Given the description of an element on the screen output the (x, y) to click on. 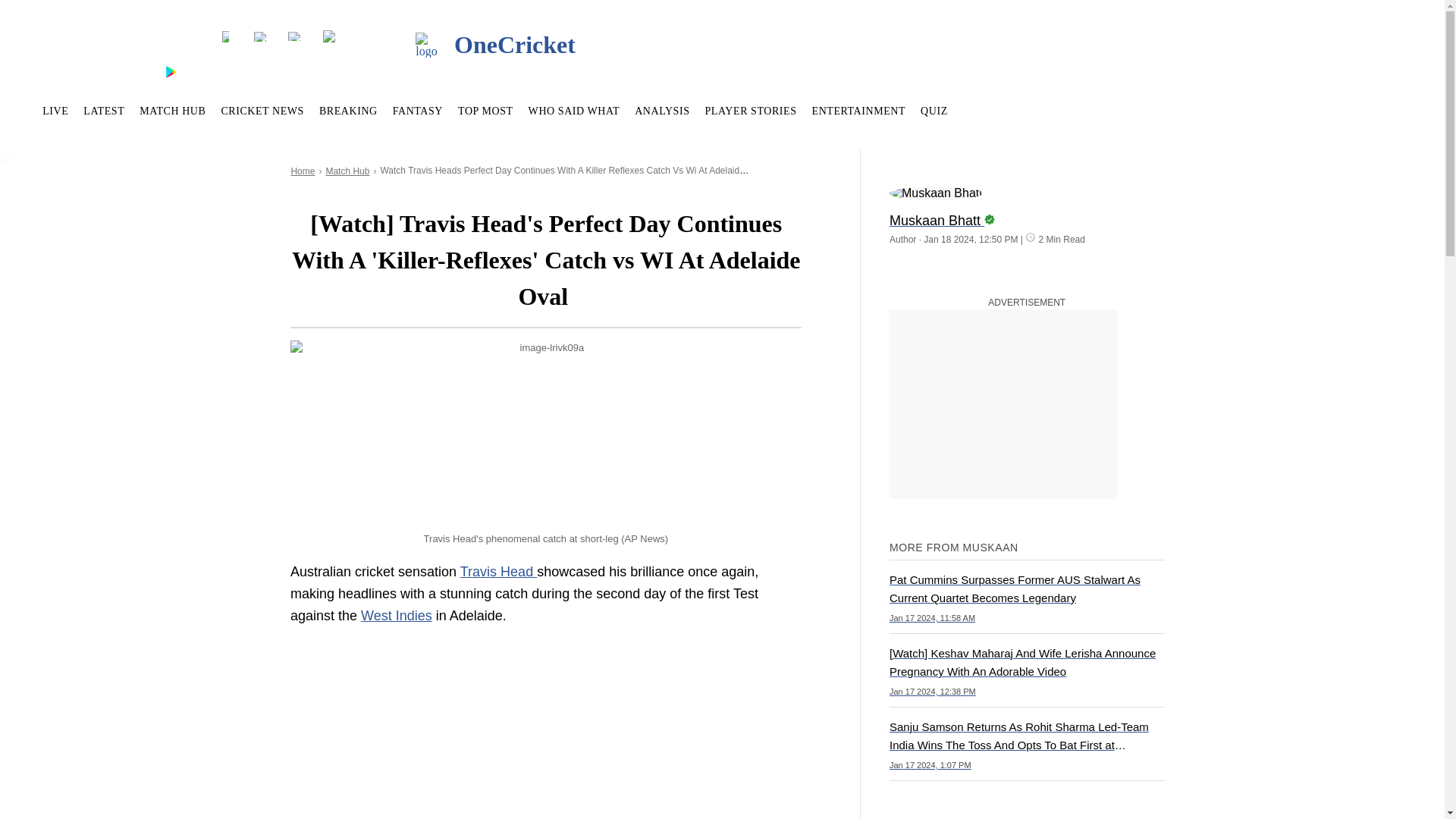
MATCH HUB (172, 111)
Muskaan Bhatt (1026, 214)
Get App (115, 71)
TOP MOST (485, 111)
PLAYER STORIES (750, 111)
ENTERTAINMENT (858, 111)
Match Hub (346, 171)
QUIZ (933, 111)
